Given the description of an element on the screen output the (x, y) to click on. 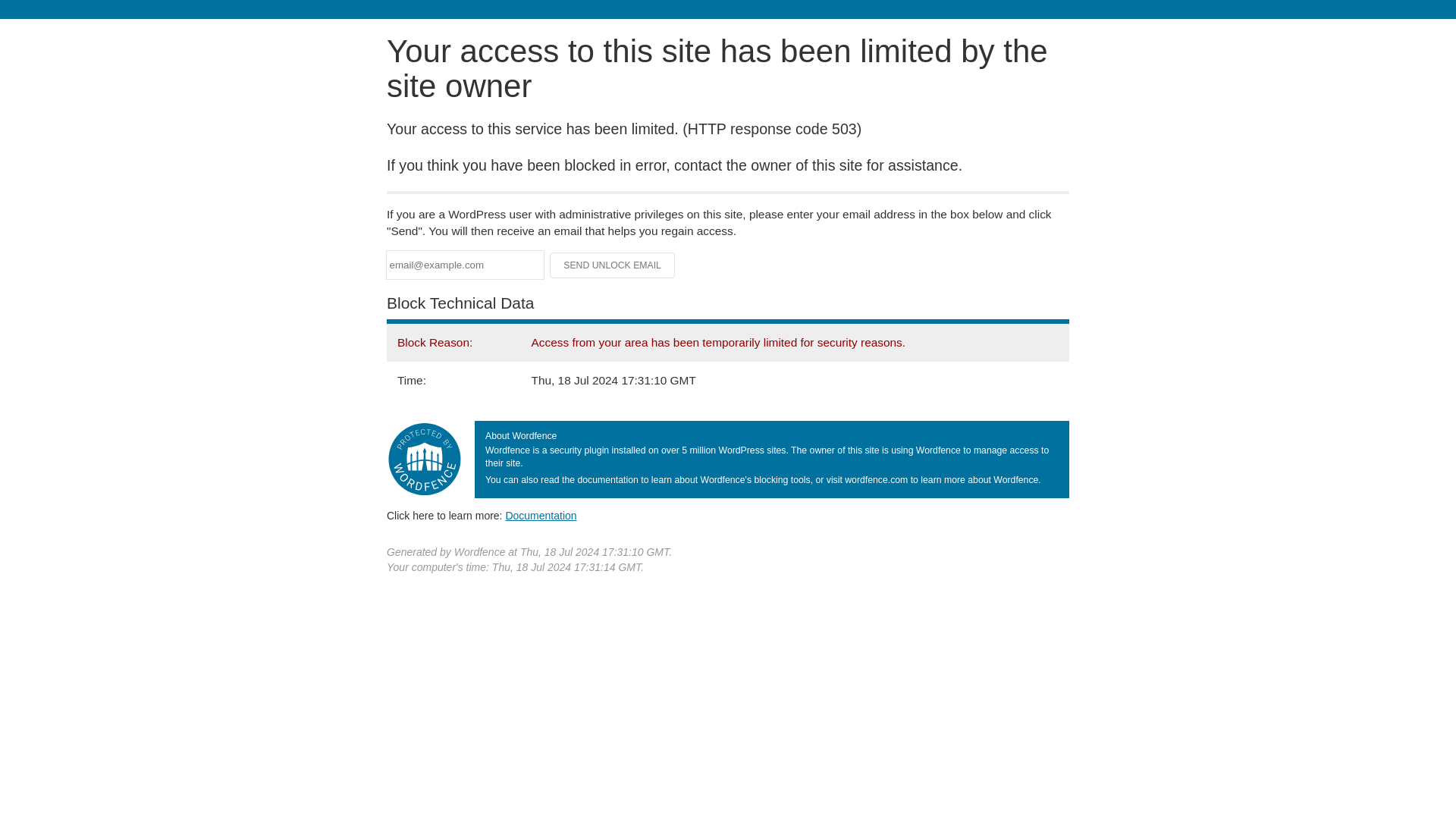
Send Unlock Email (612, 265)
Documentation (540, 515)
Send Unlock Email (612, 265)
